Given the description of an element on the screen output the (x, y) to click on. 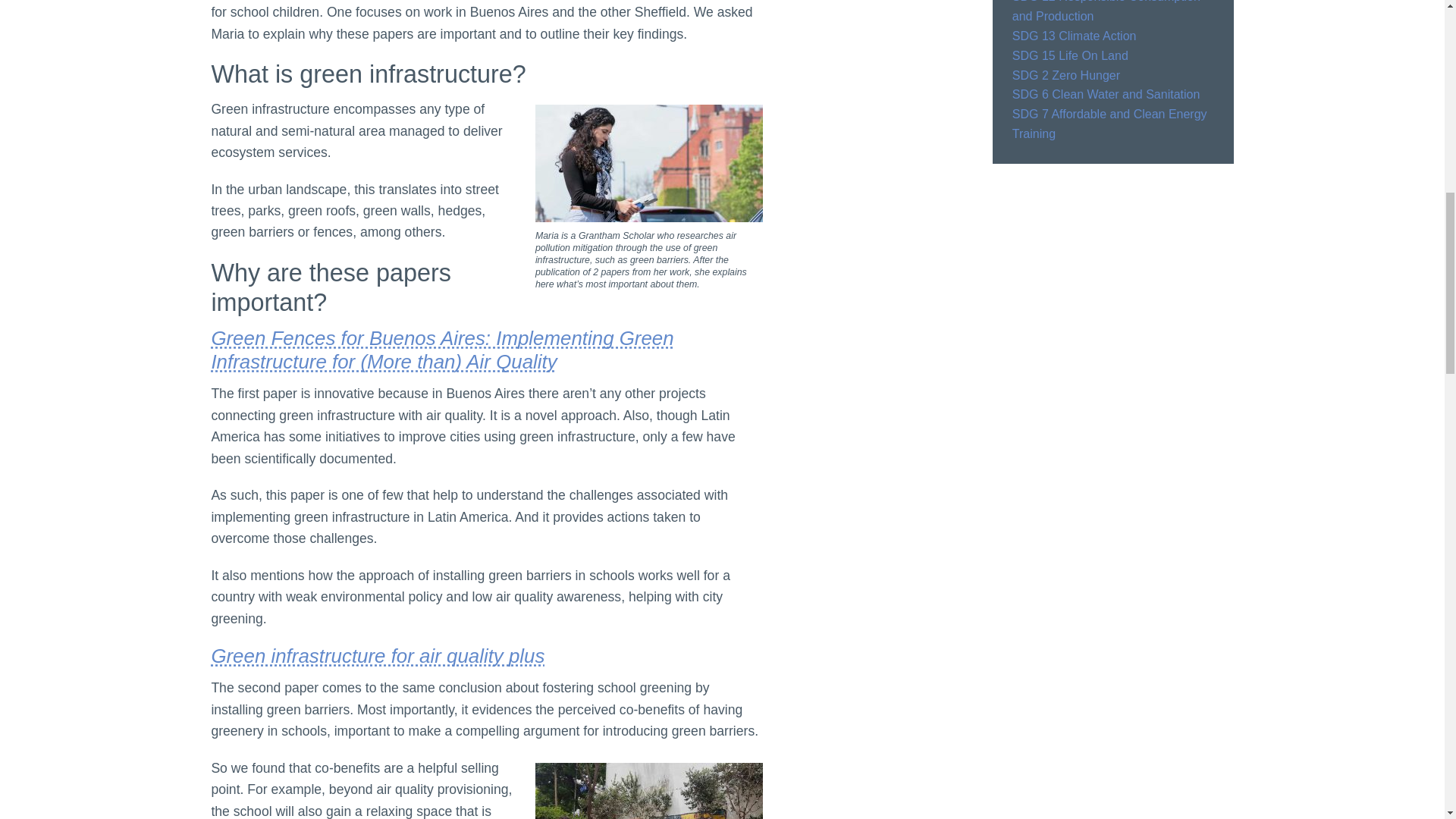
Green infrastructure for air quality plus (377, 655)
